Given the description of an element on the screen output the (x, y) to click on. 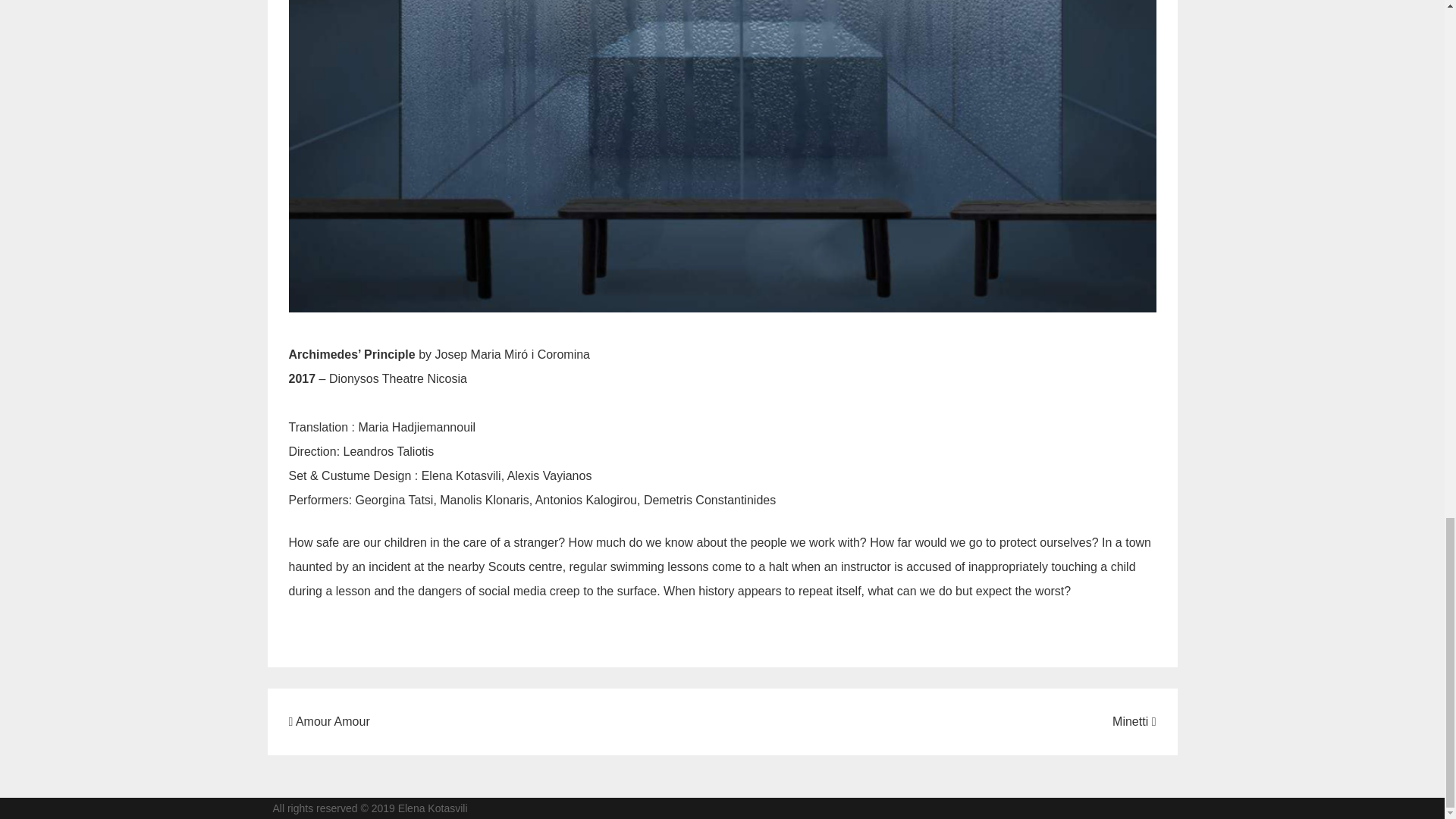
Amour Amour (328, 721)
Minetti (1134, 721)
